Given the description of an element on the screen output the (x, y) to click on. 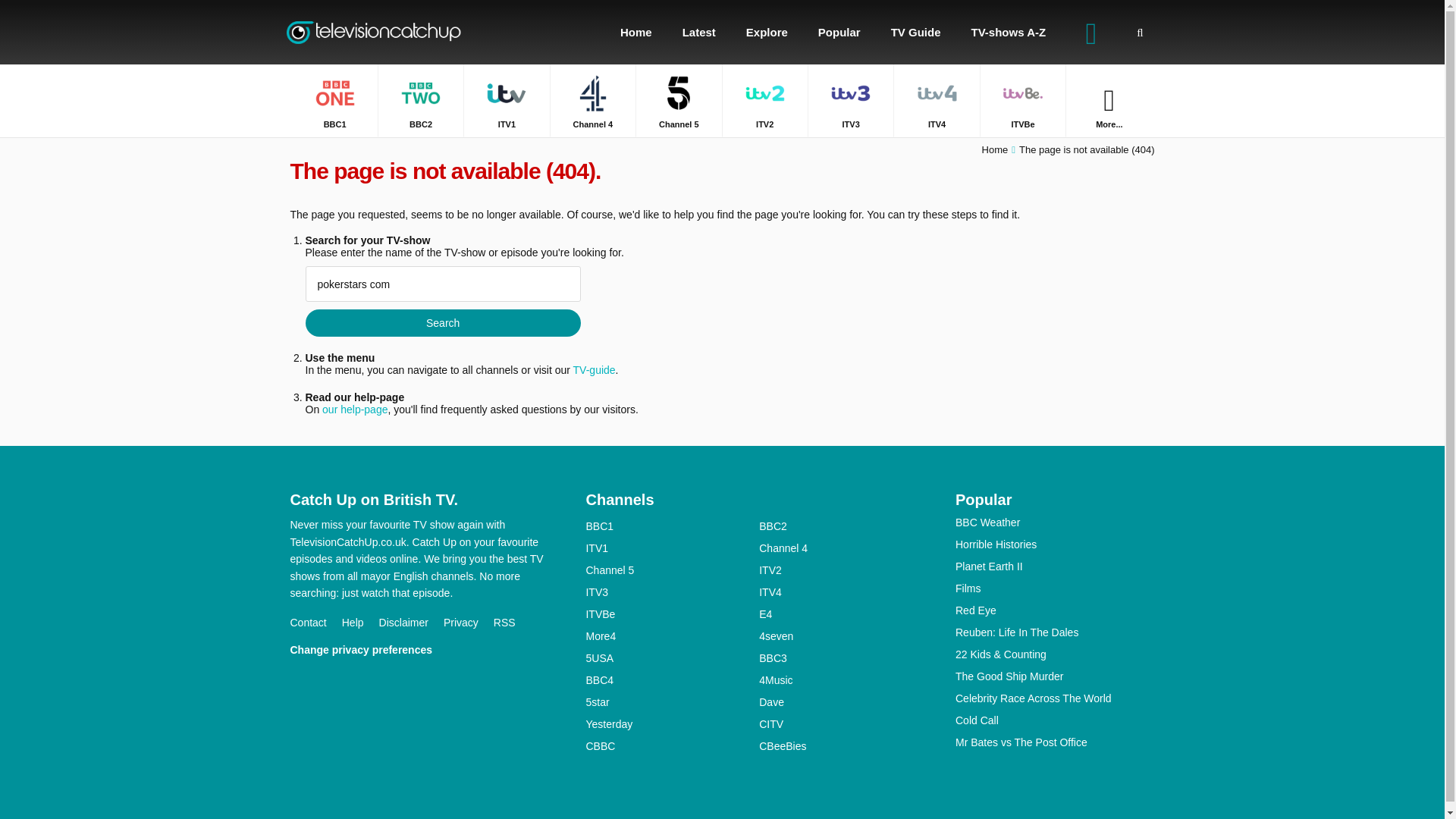
ITV2 (764, 100)
Popular (839, 32)
TV-guide (594, 369)
our help-page (354, 409)
ITV3 (850, 100)
ITVBe (1022, 100)
Contact (314, 622)
BBC1 (334, 100)
Home (635, 32)
